Given the description of an element on the screen output the (x, y) to click on. 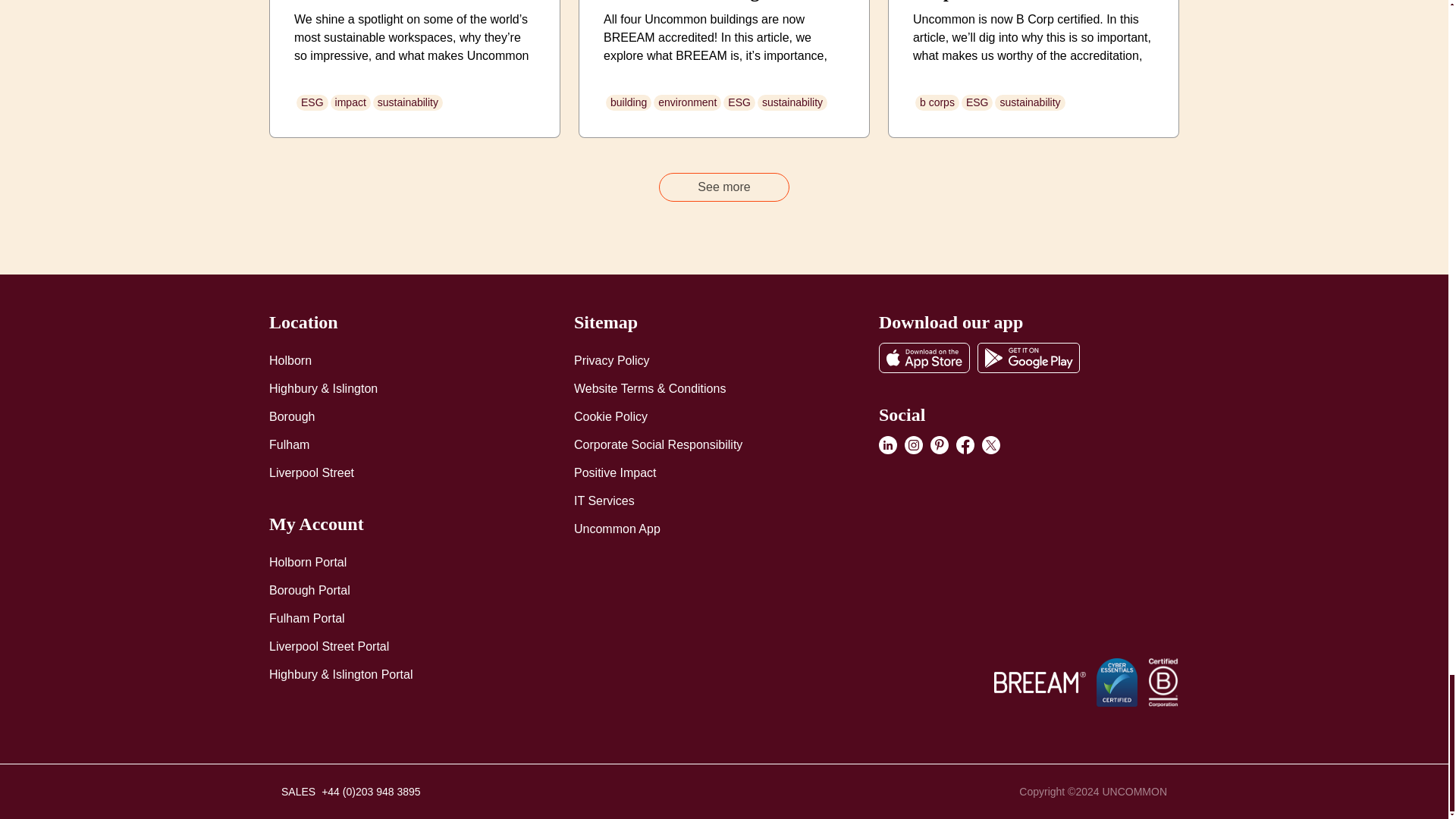
Linkedin (887, 443)
